Given the description of an element on the screen output the (x, y) to click on. 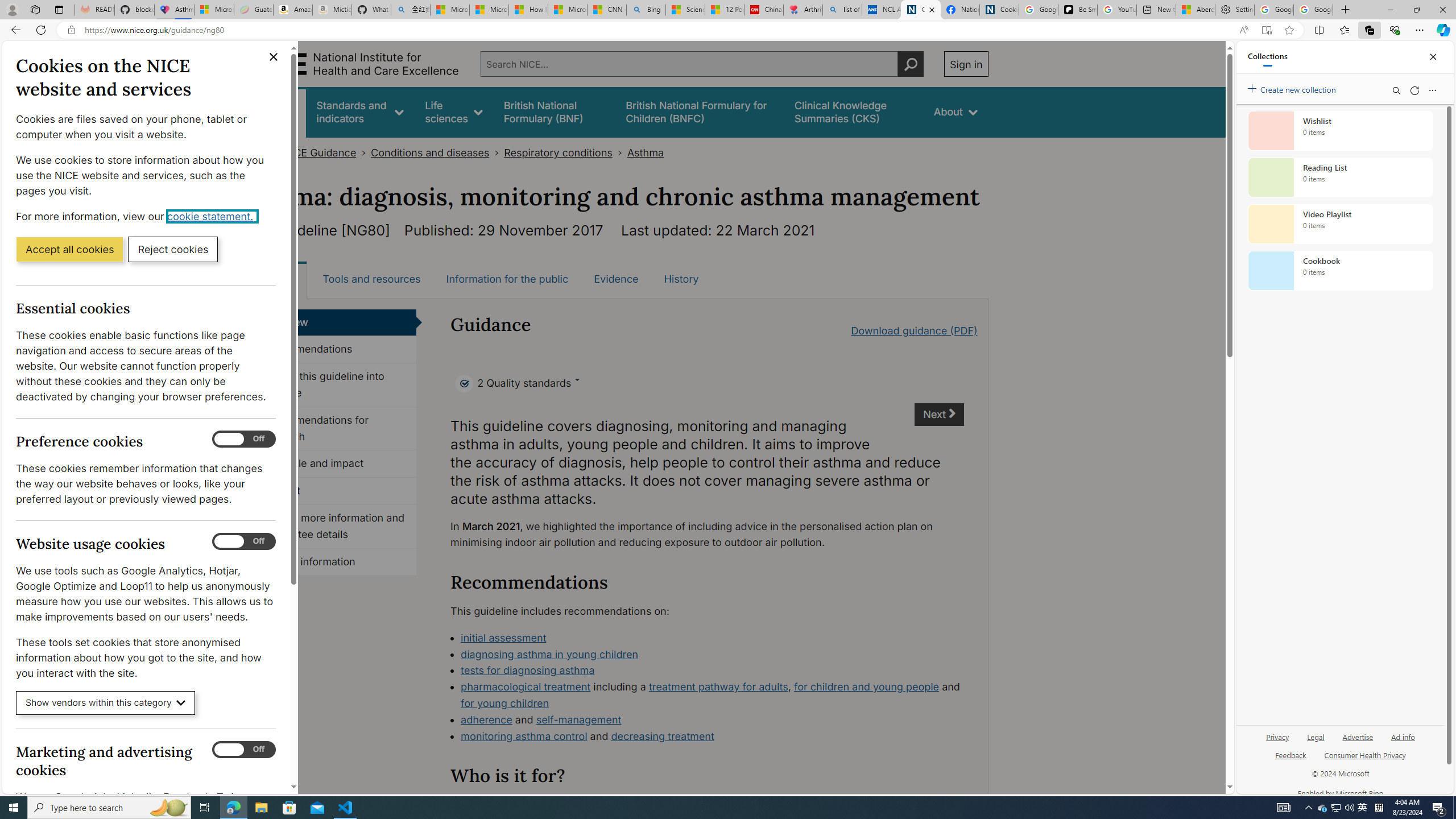
Finding more information and committee details (333, 526)
monitoring asthma control (524, 735)
for children and young people (866, 686)
Respiratory conditions> (565, 152)
Putting this guideline into practice (333, 385)
